Given the description of an element on the screen output the (x, y) to click on. 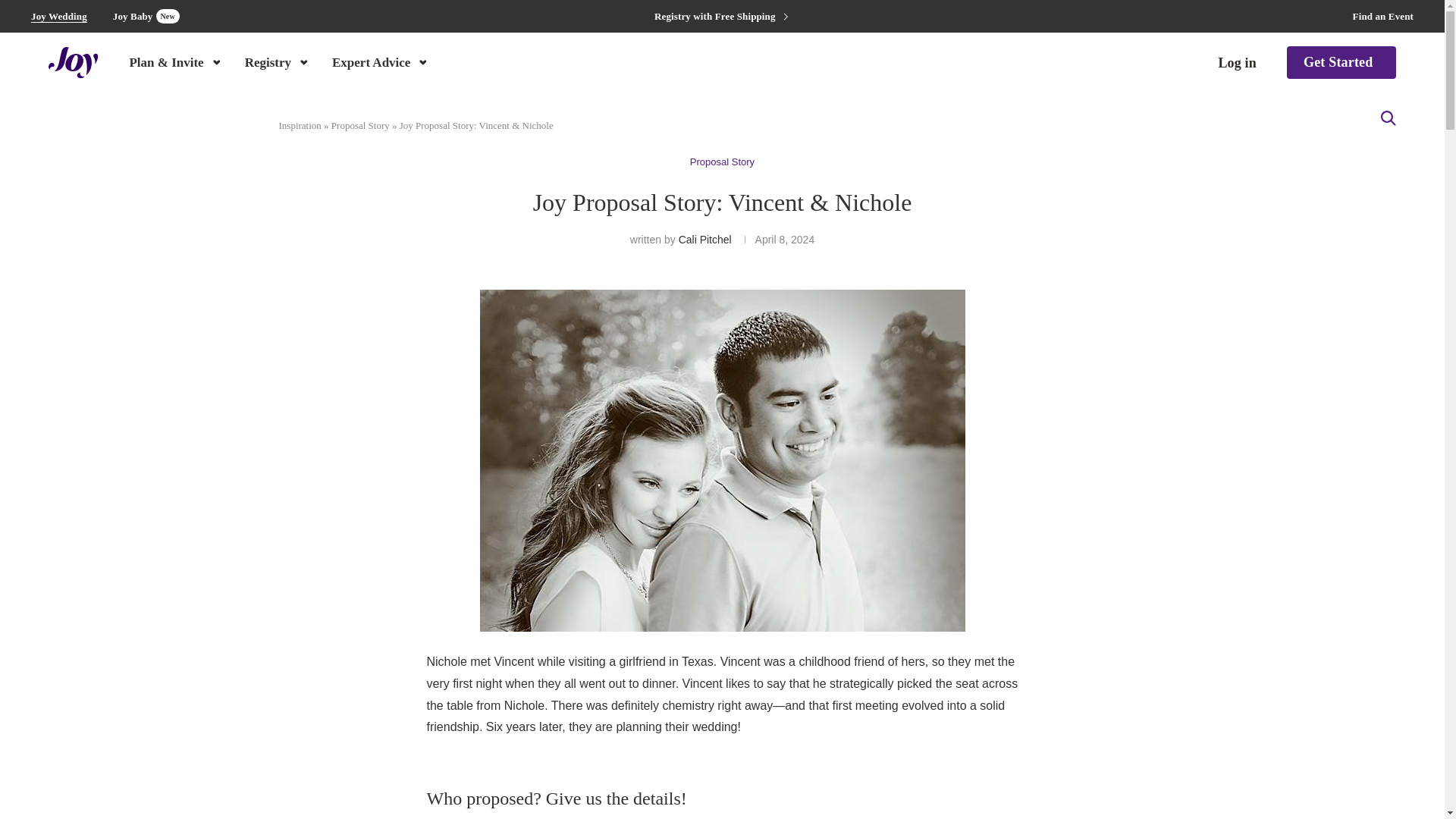
Registry (277, 61)
Get Started (1341, 61)
Log in (1236, 62)
Joy Wedding (58, 16)
Expert Advice (380, 61)
Find an Event (146, 16)
Find an Event (1382, 16)
